Given the description of an element on the screen output the (x, y) to click on. 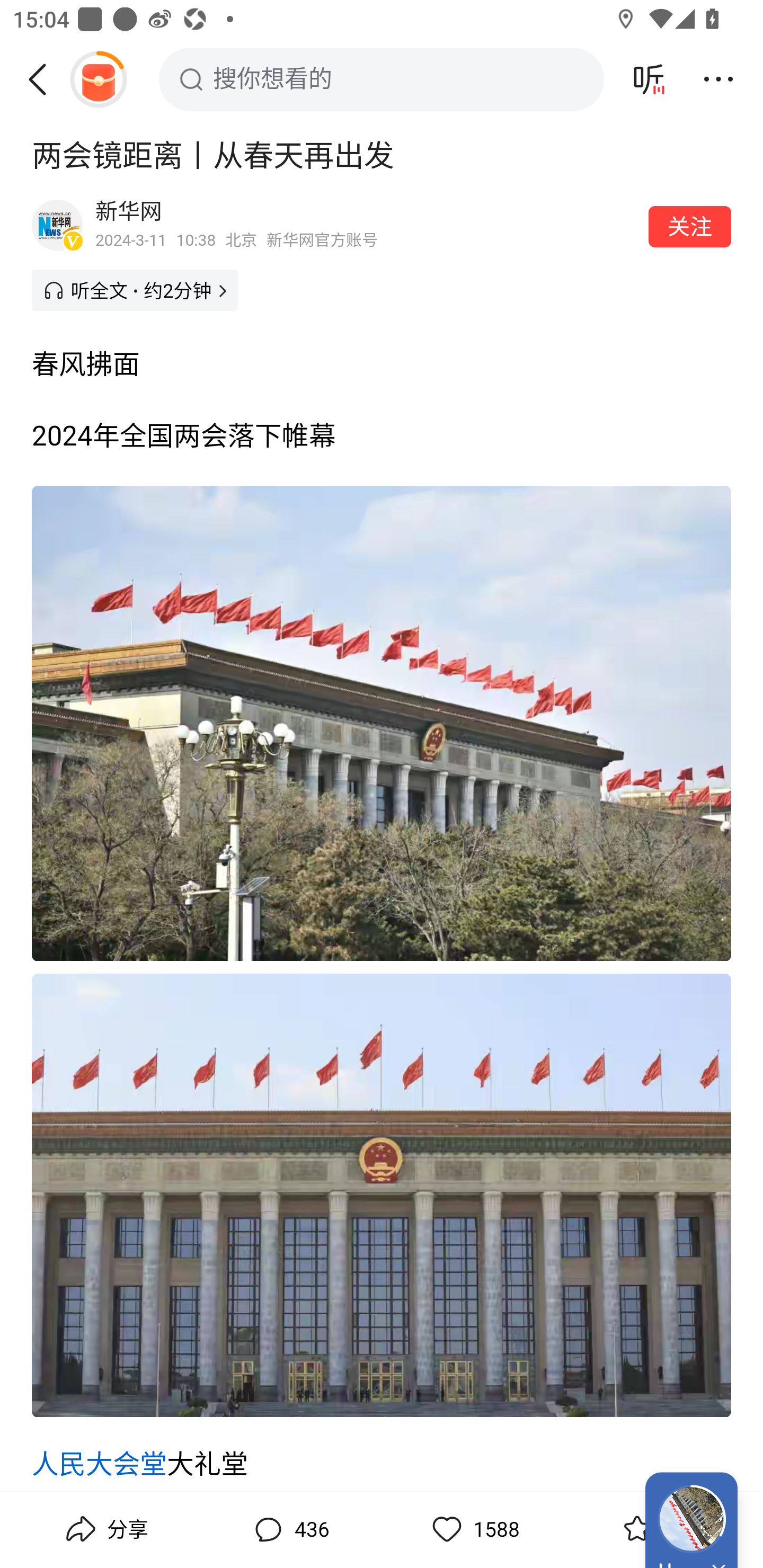
返回 (44, 78)
暂停 (648, 78)
更多操作 (718, 78)
搜你想看的 搜索框，搜你想看的 (381, 79)
阅读赚金币 (98, 79)
作者：新华网，简介：新华网官方账号，2024-3-11 10:38发布，北京 (365, 224)
关注作者 (689, 226)
听全文 约2分钟 (135, 290)
图片，点击识别内容 (381, 722)
图片，点击识别内容 (381, 1194)
人民大会堂 (100, 1464)
当前进度 32% (691, 1518)
分享 (104, 1529)
评论,436 436 (288, 1529)
收藏,449 449 (658, 1529)
